Given the description of an element on the screen output the (x, y) to click on. 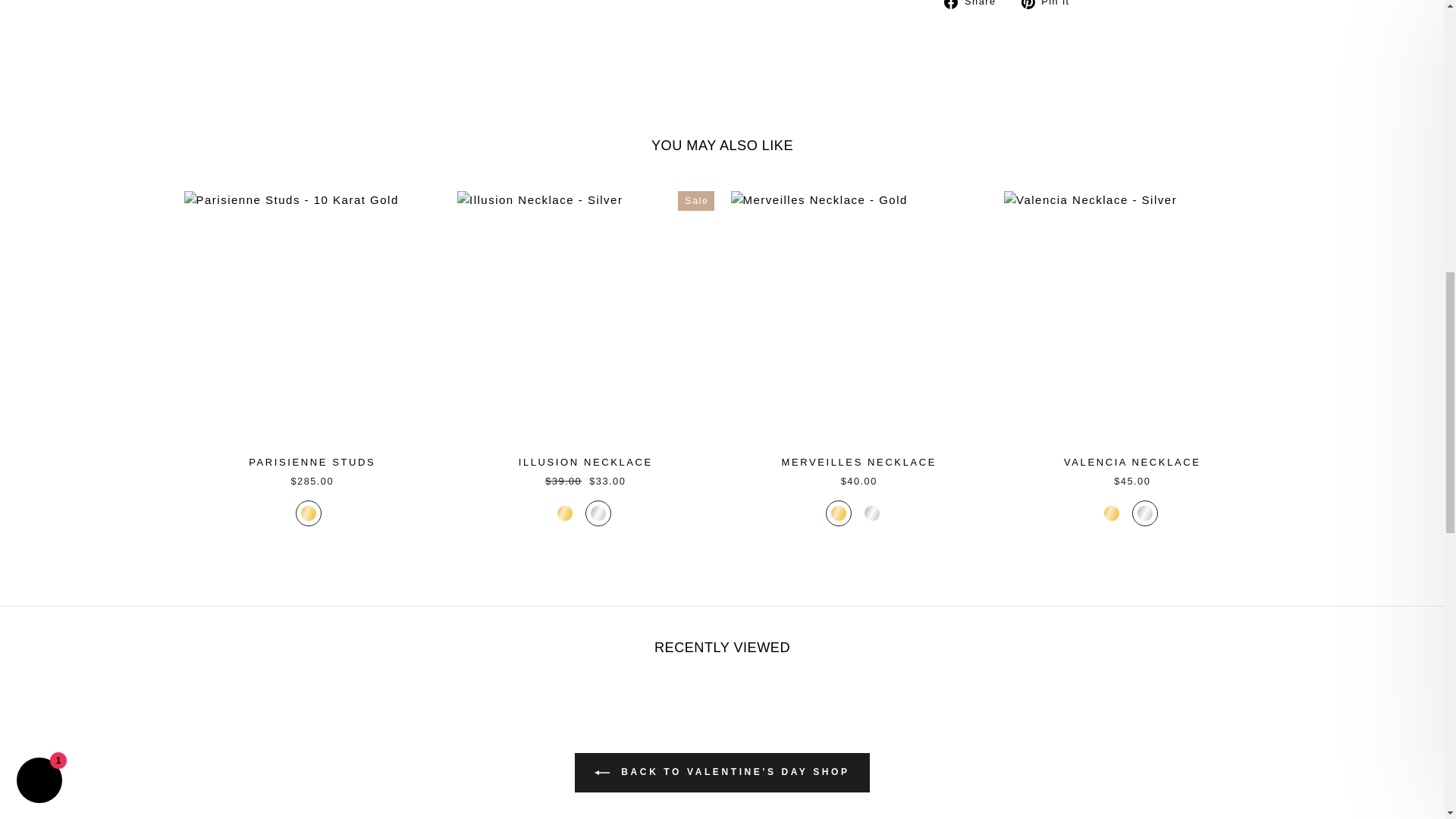
Share on Facebook (975, 4)
Pin on Pinterest (1051, 4)
